Given the description of an element on the screen output the (x, y) to click on. 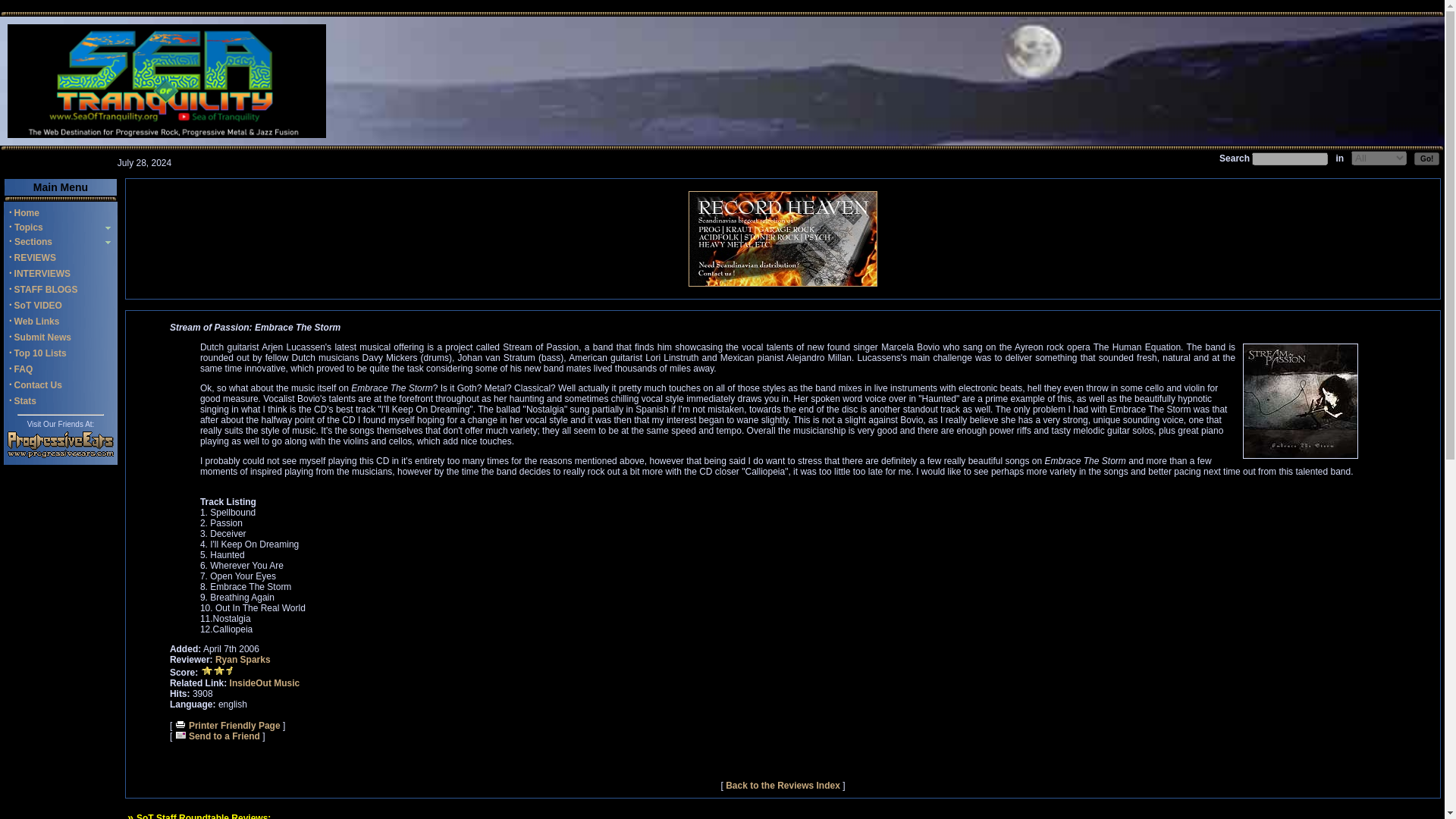
Home (26, 213)
Stats (25, 400)
INTERVIEWS (41, 273)
Contact Us (38, 385)
STAFF BLOGS (46, 289)
Printer Friendly Page (227, 725)
Web Links (36, 321)
Back to the Reviews Index (782, 785)
Ryan Sparks (242, 659)
Go! (1426, 158)
SoT VIDEO (38, 305)
Topics (27, 226)
InsideOut Music (264, 683)
Go! (1426, 158)
FAQ (23, 368)
